Given the description of an element on the screen output the (x, y) to click on. 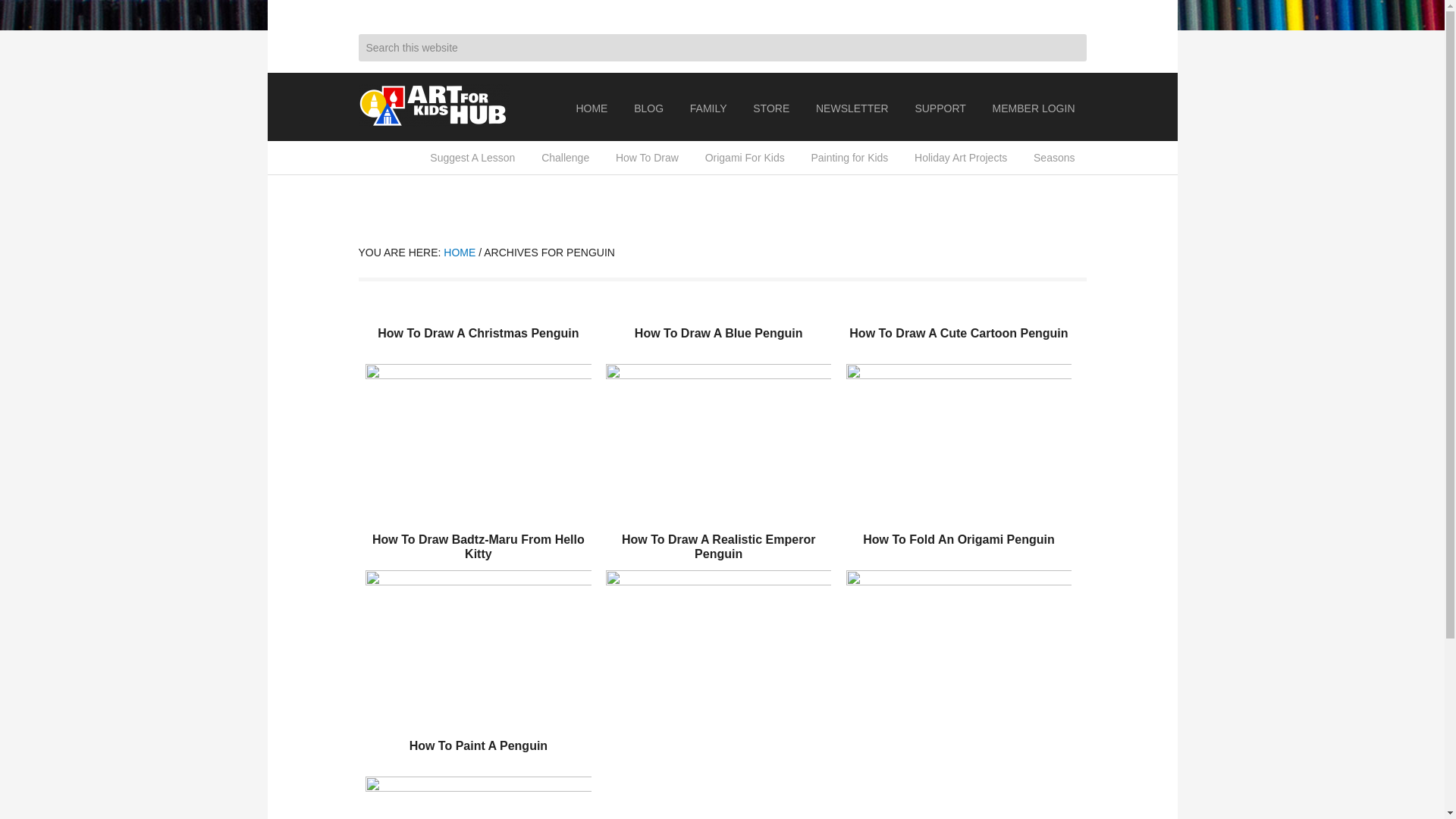
STORE (770, 108)
NEWSLETTER (852, 108)
ART FOR KIDS HUB (433, 106)
SUPPORT (939, 108)
BLOG (649, 108)
MEMBER LOGIN (1033, 108)
FAMILY (708, 108)
How To Draw (647, 157)
HOME (591, 108)
Challenge (564, 157)
Suggest A Lesson (472, 157)
